Given the description of an element on the screen output the (x, y) to click on. 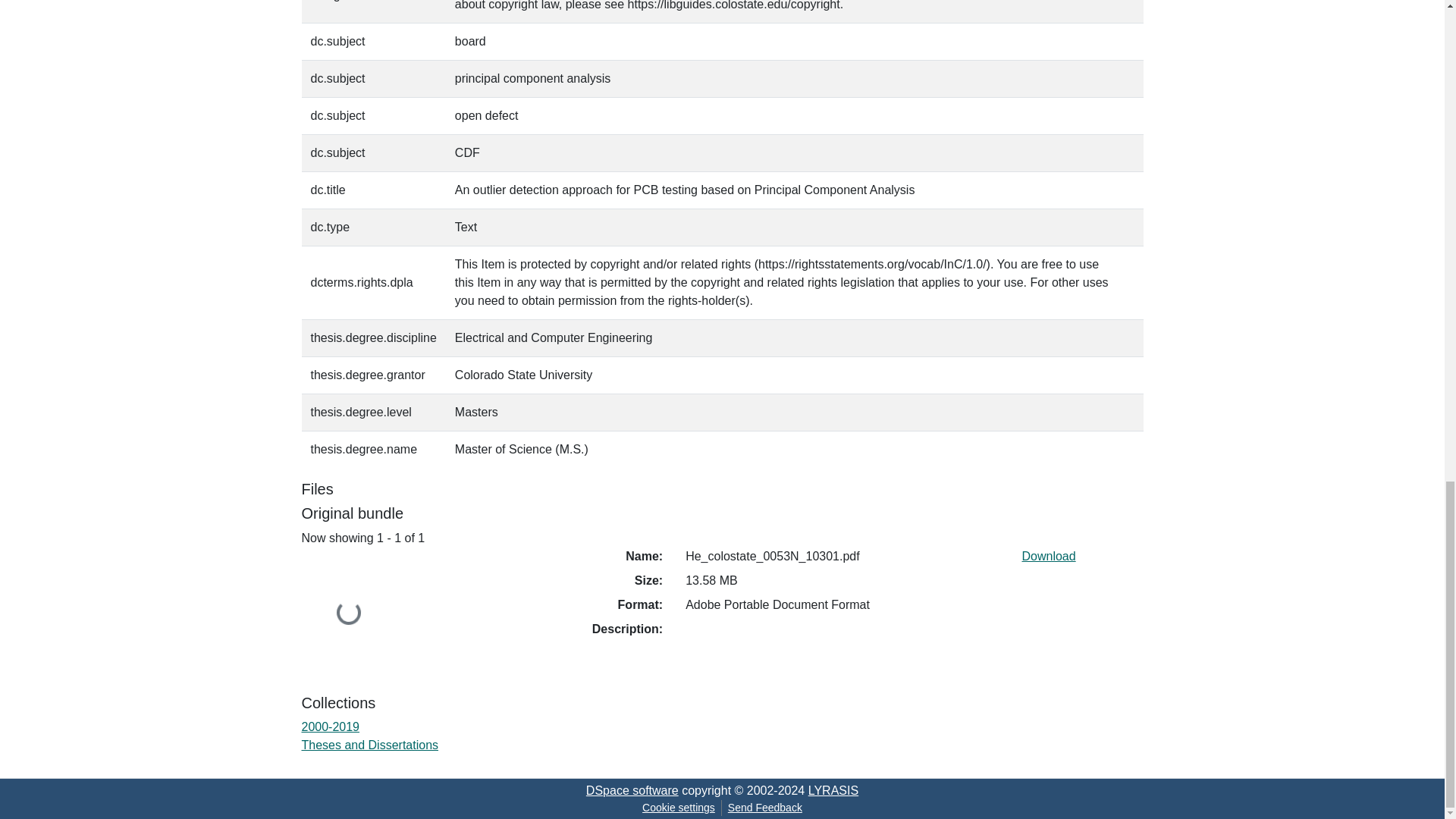
Download (1048, 555)
LYRASIS (833, 789)
Send Feedback (765, 807)
Theses and Dissertations (370, 744)
Cookie settings (678, 807)
2000-2019 (330, 726)
DSpace software (632, 789)
